Given the description of an element on the screen output the (x, y) to click on. 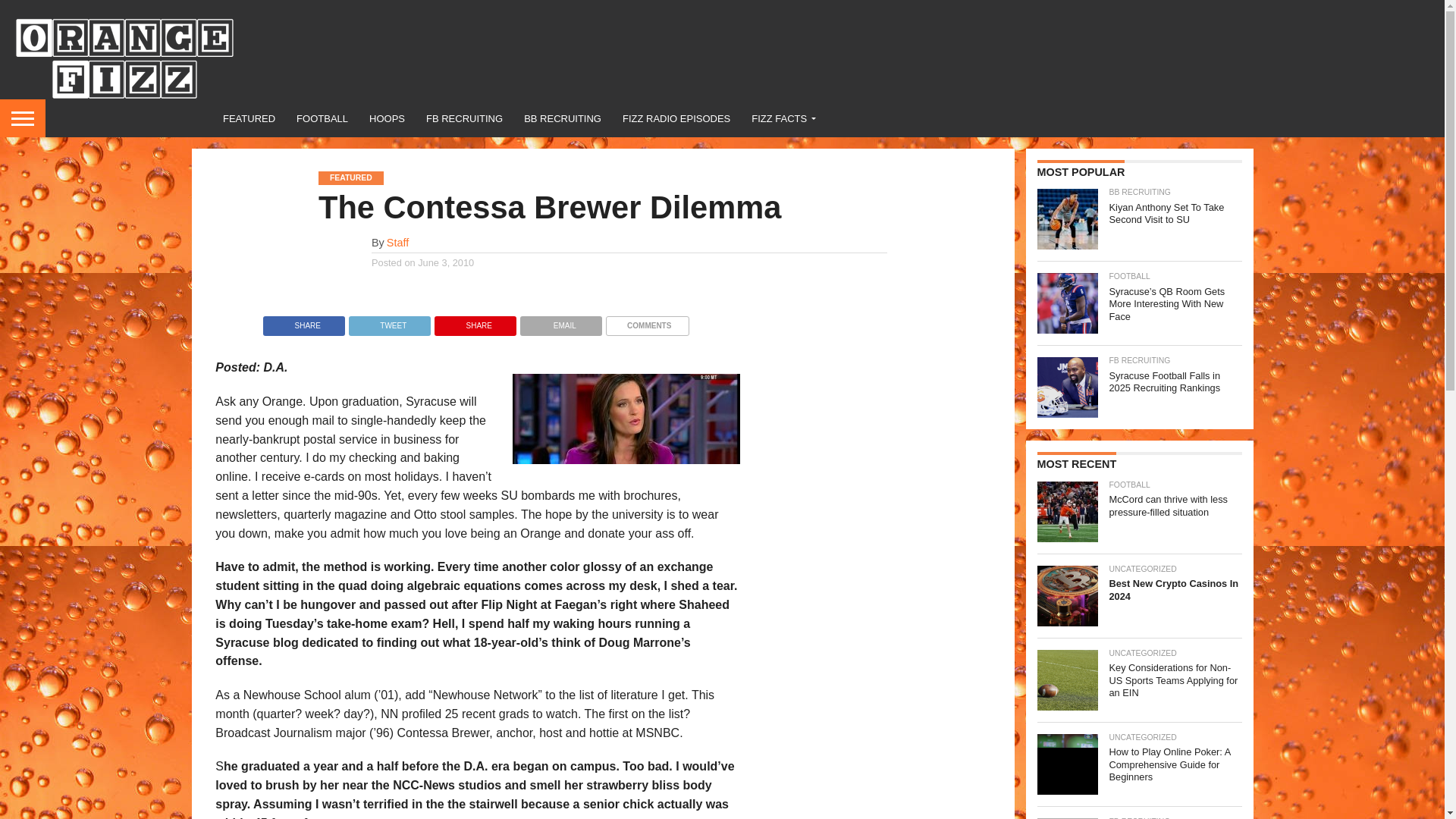
Tweet This Post (388, 321)
HOOPS (386, 118)
Share on Facebook (304, 321)
Posts by Staff (398, 242)
FEATURED (248, 118)
brewer (625, 418)
FOOTBALL (321, 118)
Pin This Post (474, 321)
